Given the description of an element on the screen output the (x, y) to click on. 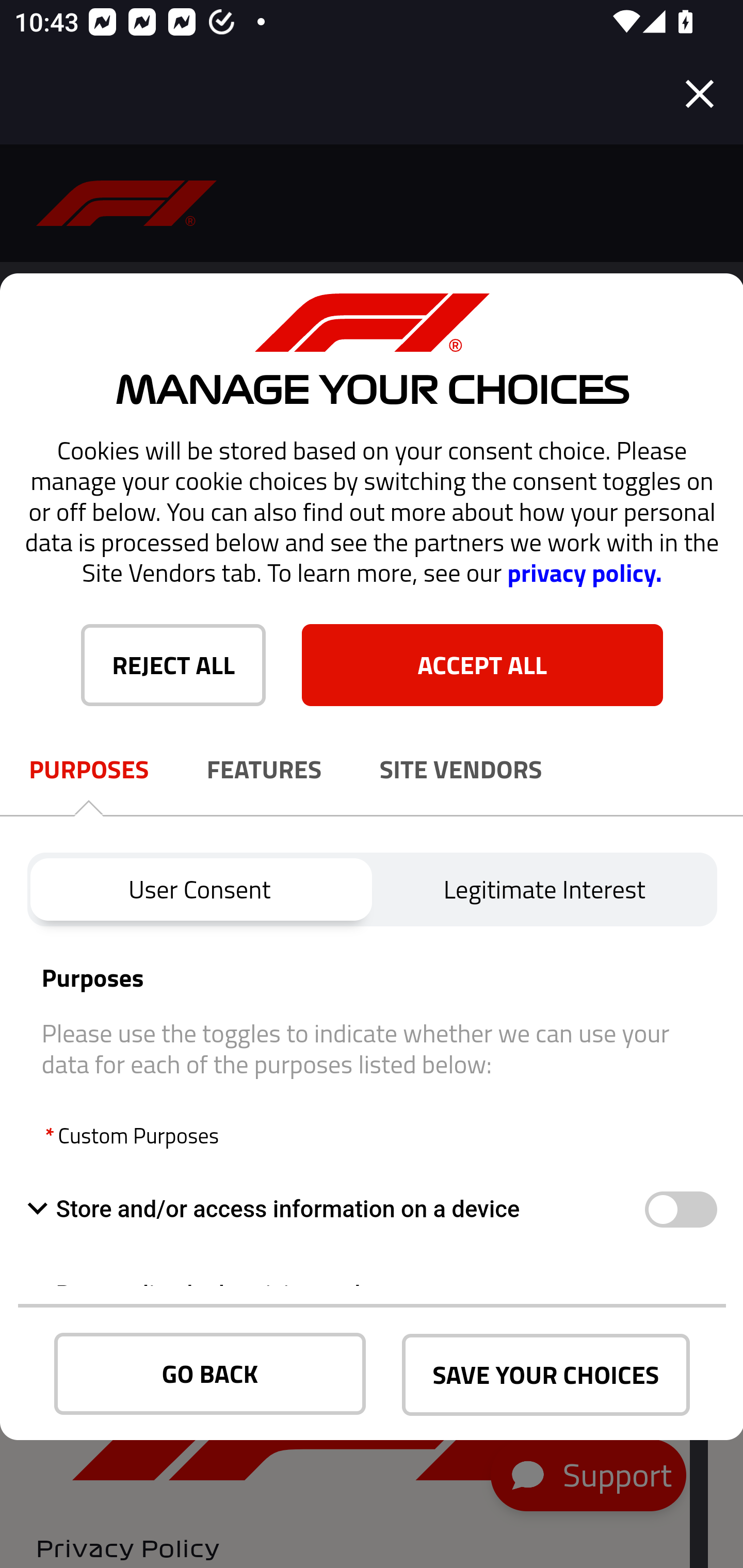
Close (699, 93)
Formula1 (127, 203)
privacy policy. (583, 572)
REJECT ALL (173, 664)
ACCEPT ALL (481, 664)
PURPOSES (89, 769)
FEATURES (264, 769)
SITE VENDORS (461, 769)
User Consent (199, 889)
Legitimate Interest (545, 889)
Store and/or access information on a device (335, 1209)
Store and/or access information on a device (680, 1210)
GO BACK (210, 1373)
SAVE YOUR CHOICES (546, 1374)
